Given the description of an element on the screen output the (x, y) to click on. 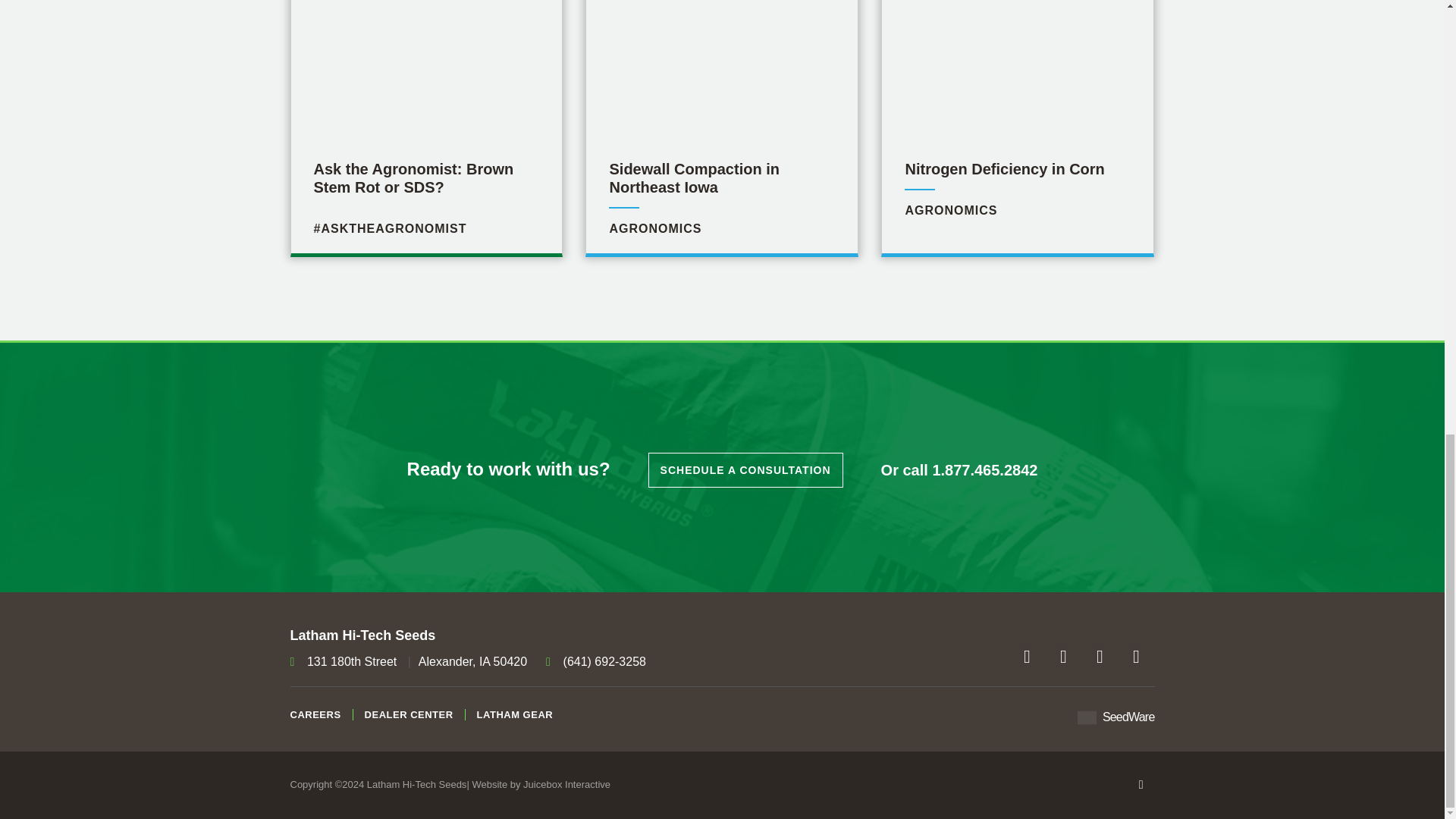
RSS (1008, 190)
Subscribe with RSS (721, 190)
SCHEDULE A CONSULTATION (1136, 656)
Find us on Facebook (1136, 656)
Twitter (745, 469)
Instagram (1027, 656)
Find us on Instagram (1063, 656)
Find us on Twitter (1099, 656)
Facebook (1099, 656)
